Given the description of an element on the screen output the (x, y) to click on. 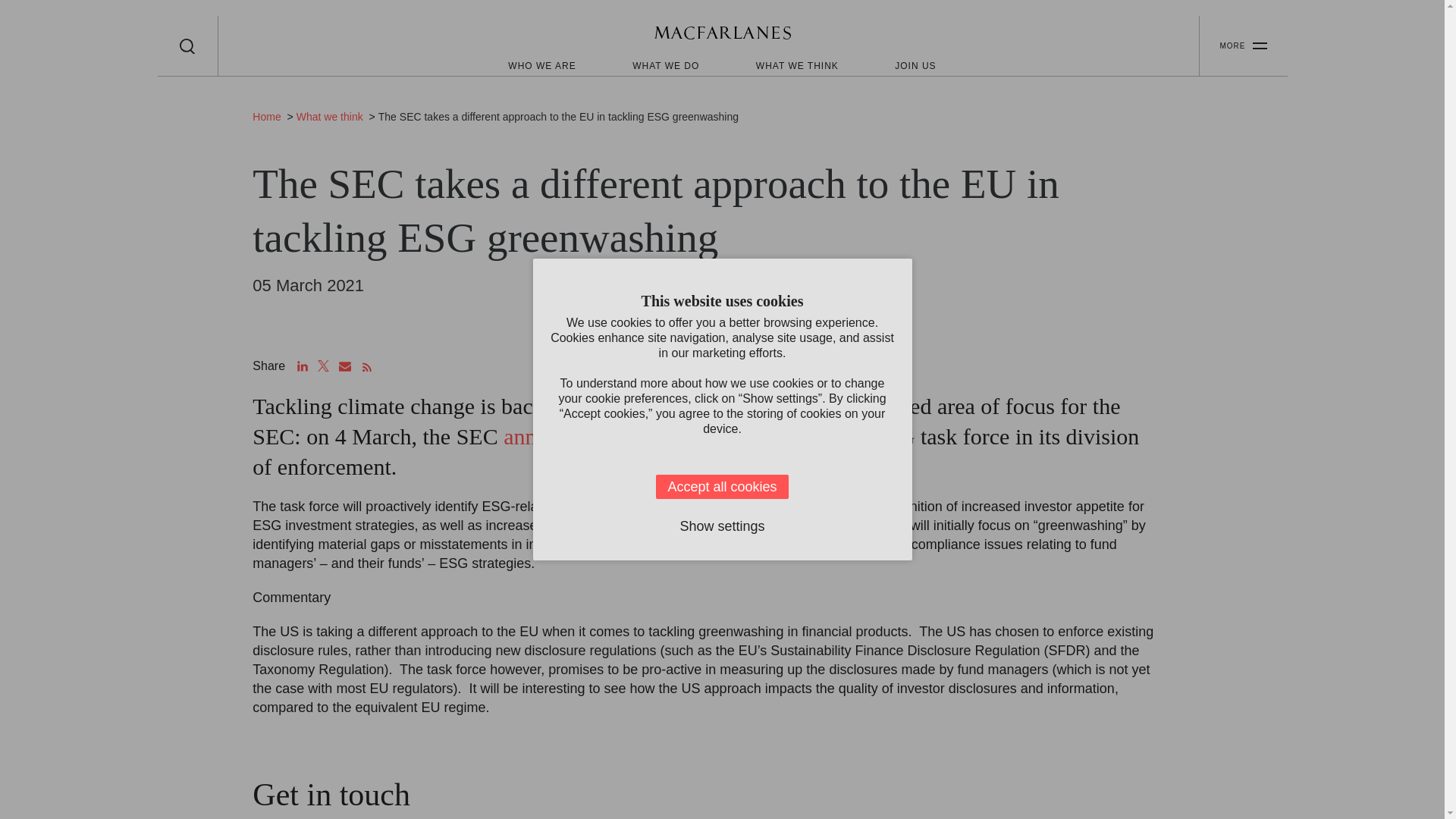
WHO WE ARE (541, 65)
MACFARLANES (721, 35)
WHAT WE DO (664, 65)
WHAT WE THINK (796, 65)
Search (187, 46)
